Given the description of an element on the screen output the (x, y) to click on. 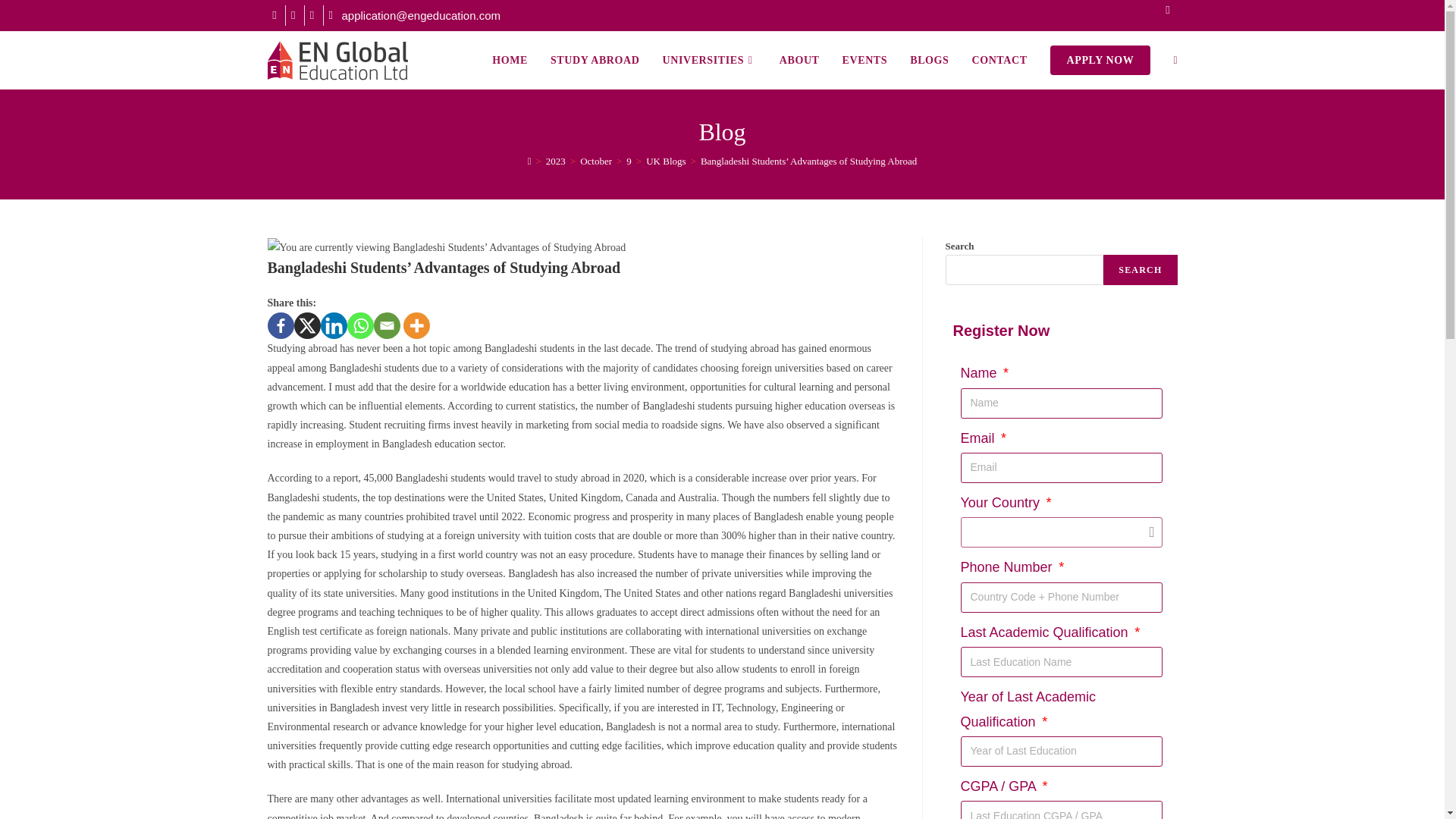
Facebook (280, 325)
UNIVERSITIES (708, 59)
CONTACT (998, 59)
STUDY ABROAD (594, 59)
Linkedin (333, 325)
October (595, 161)
Whatsapp (360, 325)
9 (628, 161)
UK Blogs (665, 161)
HOME (509, 59)
APPLY NOW (1100, 59)
BLOGS (928, 59)
Email (385, 325)
More (416, 325)
2023 (556, 161)
